Given the description of an element on the screen output the (x, y) to click on. 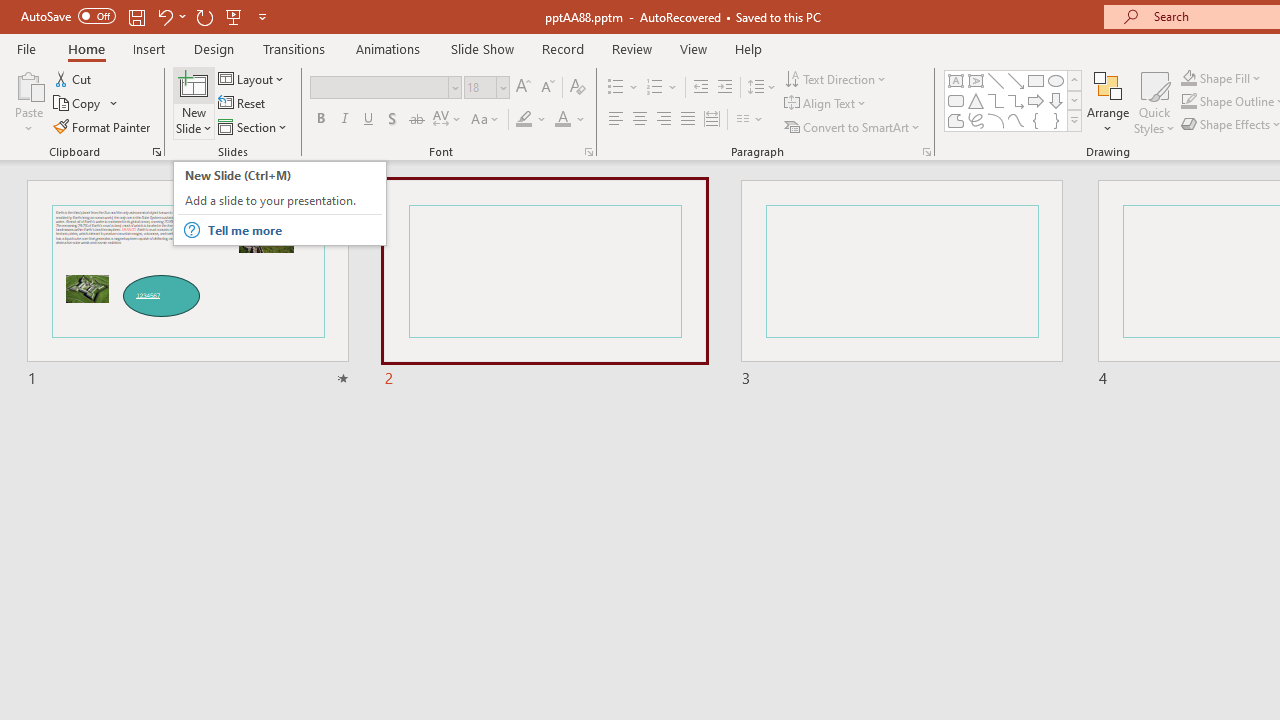
Arrange (1108, 102)
Align Right (663, 119)
New Slide (193, 84)
Line Spacing (762, 87)
Strikethrough (416, 119)
Cut (73, 78)
Undo (164, 15)
New Slide (193, 102)
Columns (750, 119)
Vertical Text Box (975, 80)
Reset (243, 103)
Shape Outline Teal, Accent 1 (1188, 101)
Font Color Red (562, 119)
Rectangle (1035, 80)
Shape Fill (1221, 78)
